Given the description of an element on the screen output the (x, y) to click on. 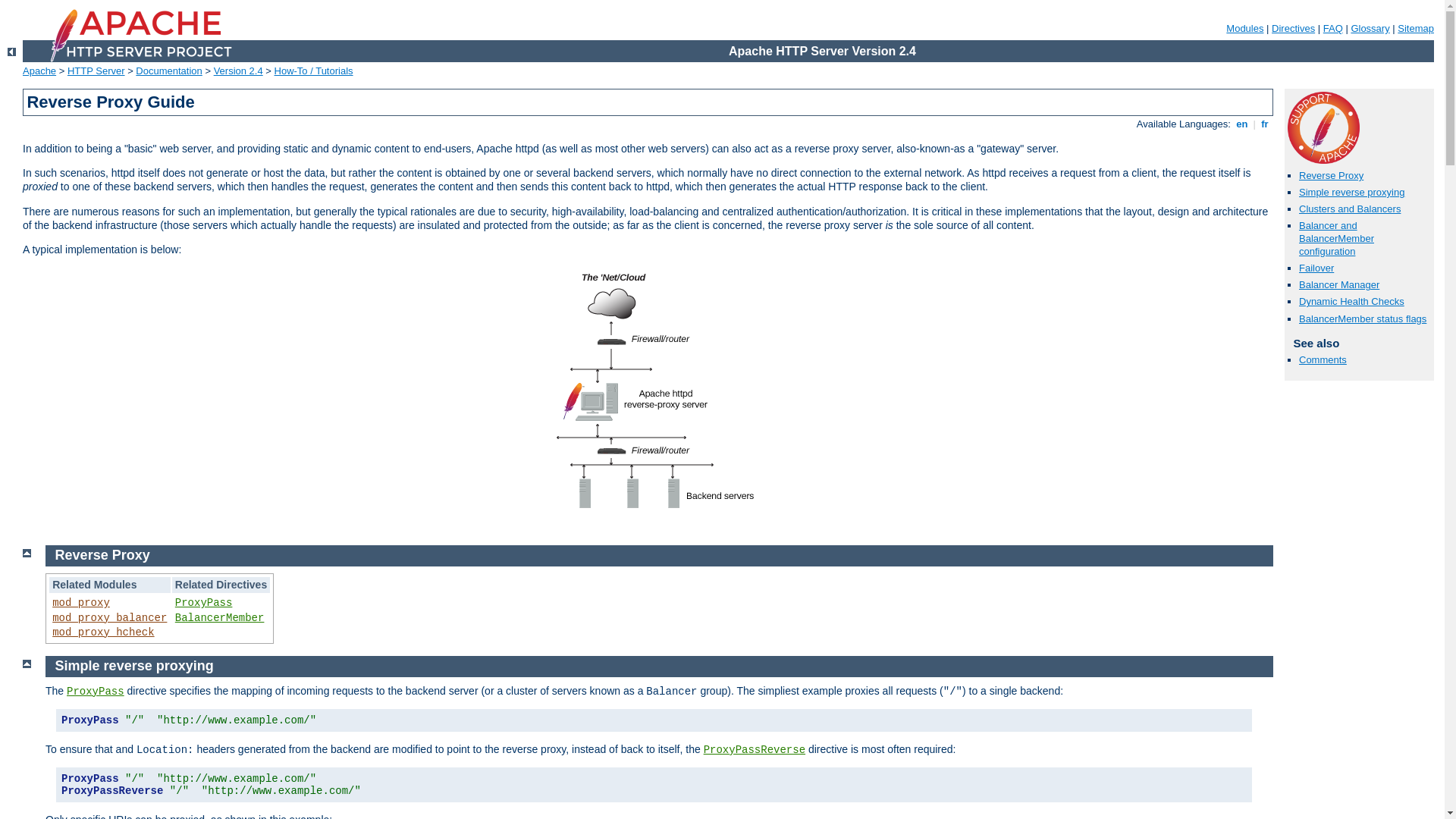
BalancerMember Element type: text (219, 617)
mod_proxy_hcheck Element type: text (102, 632)
ProxyPassReverse Element type: text (754, 749)
FAQ Element type: text (1333, 28)
Failover Element type: text (1316, 267)
Clusters and Balancers Element type: text (1349, 208)
 en  Element type: text (1241, 123)
Sitemap Element type: text (1415, 28)
Reverse Proxy Element type: text (1331, 175)
HTTP Server Element type: text (96, 70)
Modules Element type: text (1244, 28)
mod_proxy Element type: text (80, 602)
Comments Element type: text (1322, 359)
<- Element type: hover (11, 51)
Apache Element type: text (39, 70)
ProxyPass Element type: text (95, 691)
 fr  Element type: text (1264, 123)
Version 2.4 Element type: text (238, 70)
ProxyPass Element type: text (203, 602)
BalancerMember status flags Element type: text (1362, 318)
How-To / Tutorials Element type: text (313, 70)
Balancer and BalancerMember configuration Element type: text (1336, 238)
mod_proxy_balancer Element type: text (109, 617)
Glossary Element type: text (1369, 28)
Simple reverse proxying Element type: text (1351, 191)
Reverse Proxy Element type: text (102, 554)
Documentation Element type: text (168, 70)
Directives Element type: text (1292, 28)
Simple reverse proxying Element type: text (134, 665)
Dynamic Health Checks Element type: text (1351, 301)
Balancer Manager Element type: text (1339, 284)
